Given the description of an element on the screen output the (x, y) to click on. 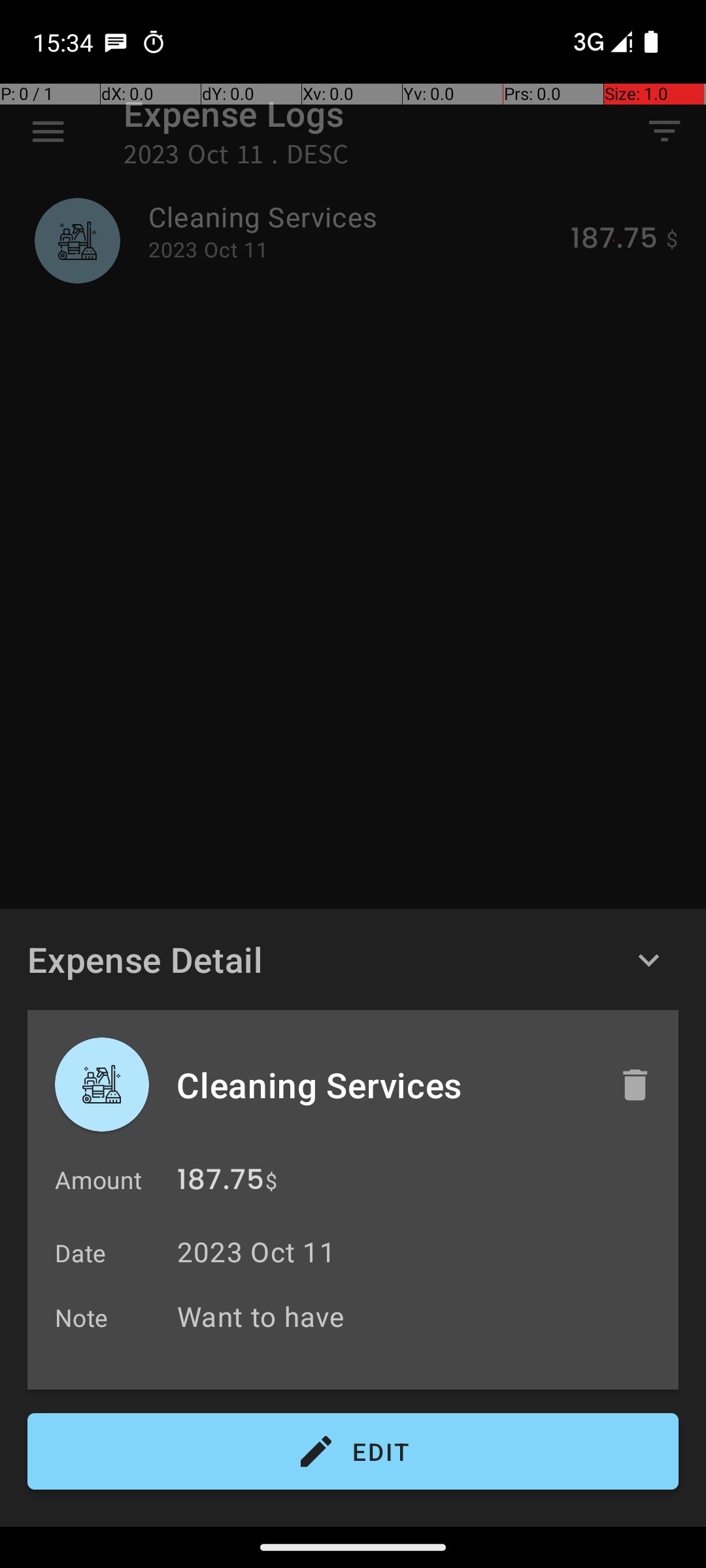
187.75 Element type: android.widget.TextView (220, 1182)
